Given the description of an element on the screen output the (x, y) to click on. 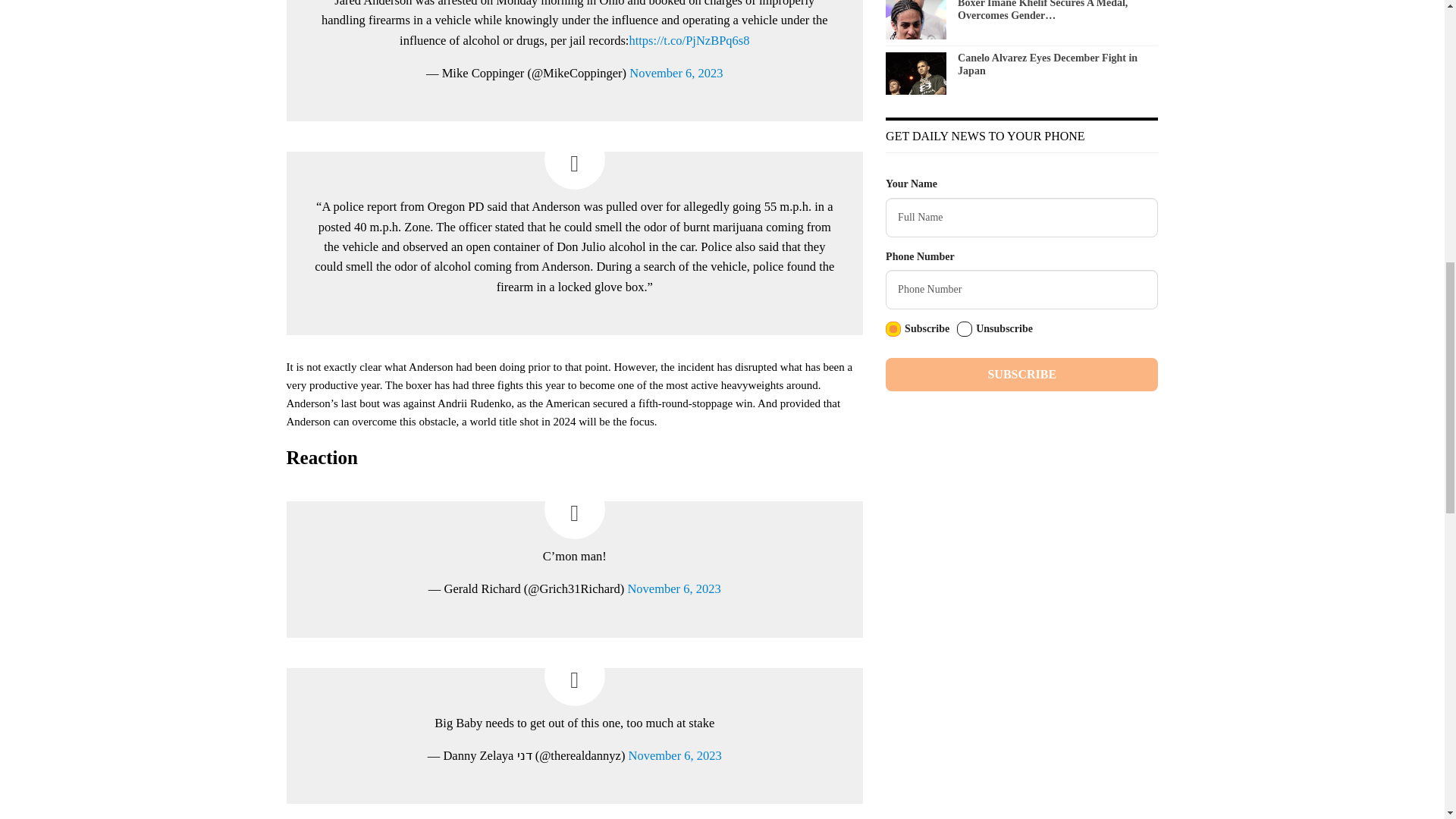
unsubscribe (964, 328)
subscribe (893, 328)
